Given the description of an element on the screen output the (x, y) to click on. 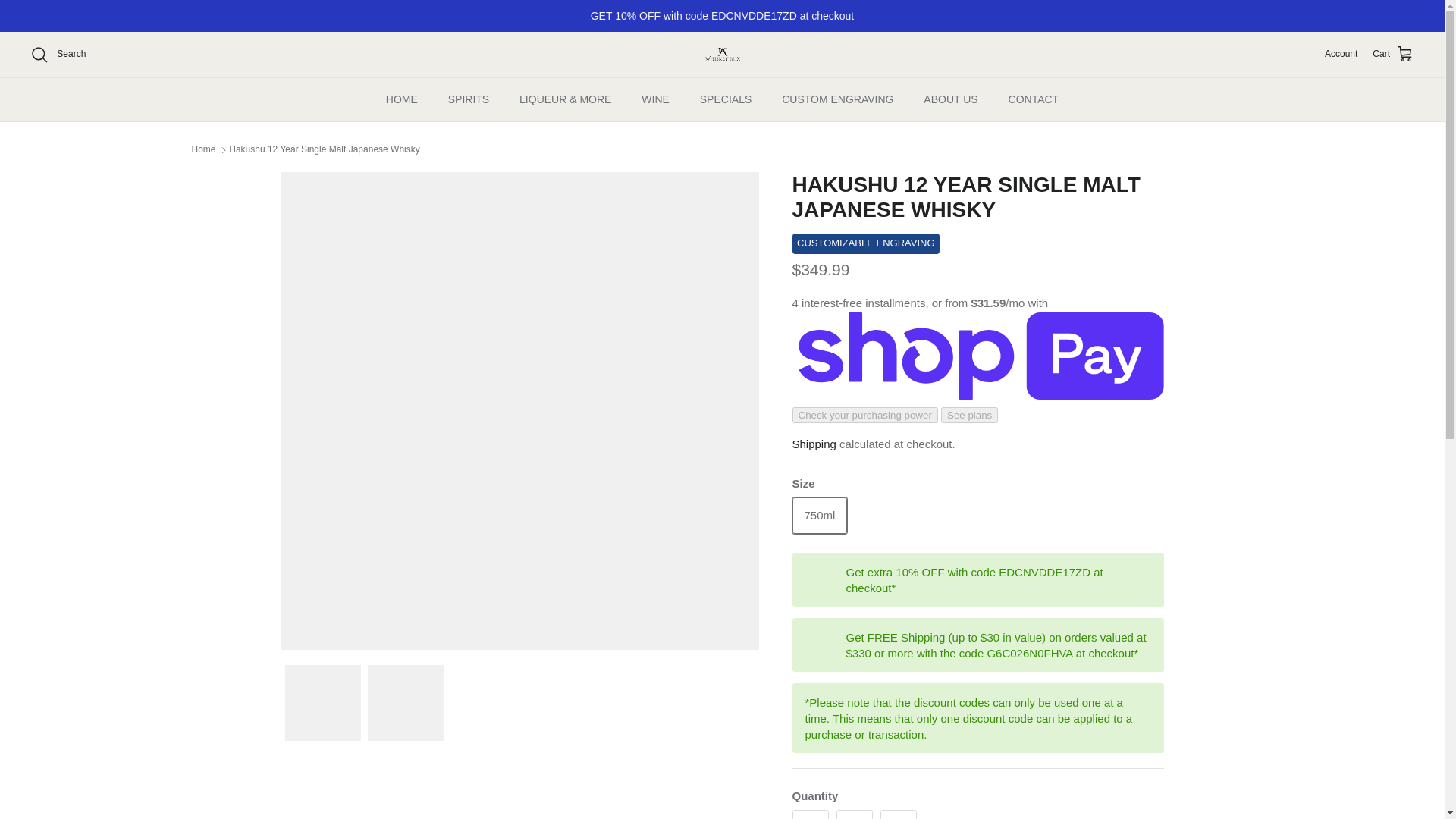
Whiskey Mix (722, 54)
SPIRITS (467, 99)
Cart (1393, 54)
Search (57, 54)
HOME (401, 99)
Account (1340, 53)
1 (853, 814)
